Given the description of an element on the screen output the (x, y) to click on. 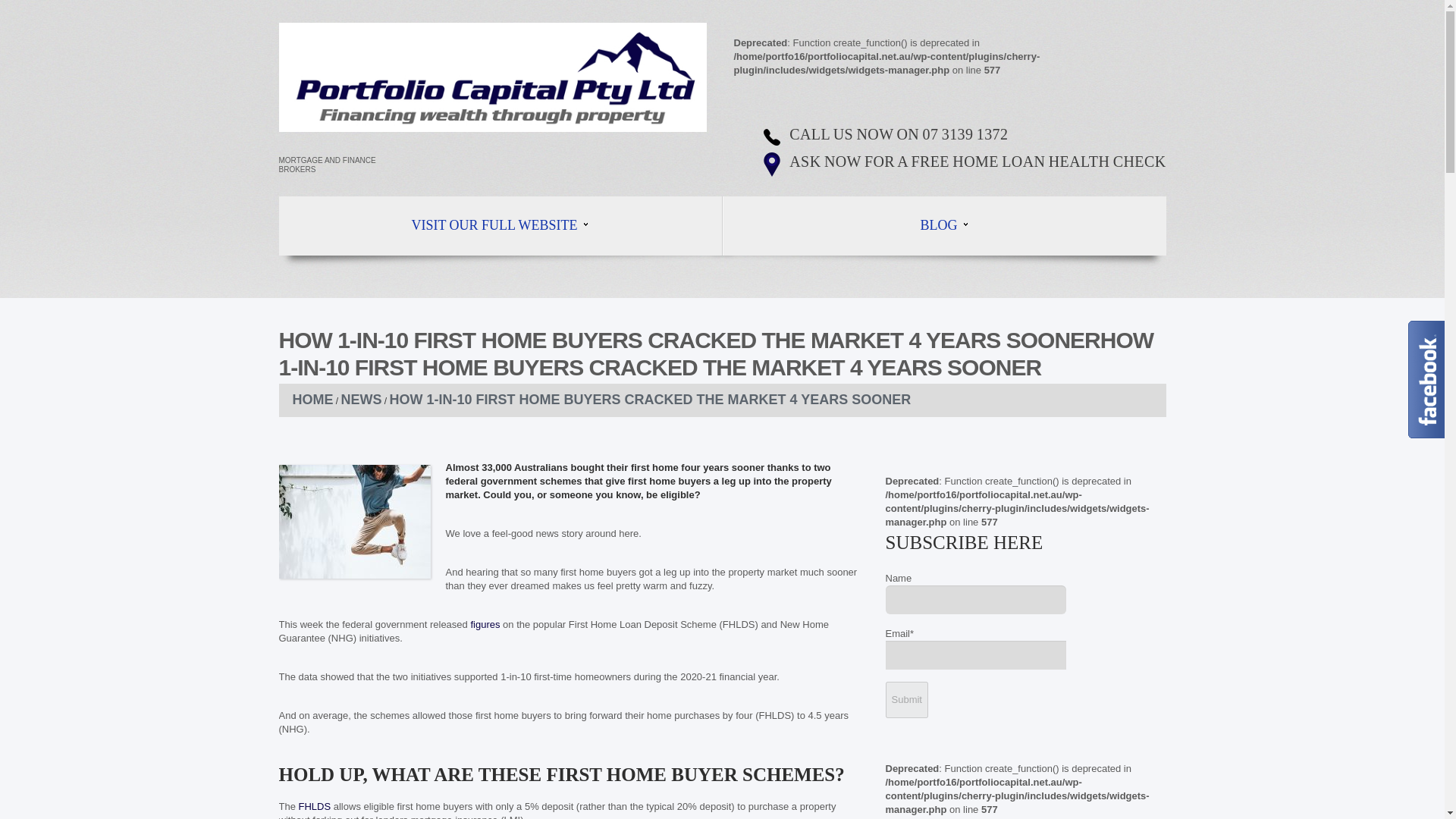
Submit (906, 699)
Mortgage and Finance Brokers (492, 76)
HOME (312, 399)
figures (484, 624)
FHLDS (314, 806)
NEWS (360, 399)
